Given the description of an element on the screen output the (x, y) to click on. 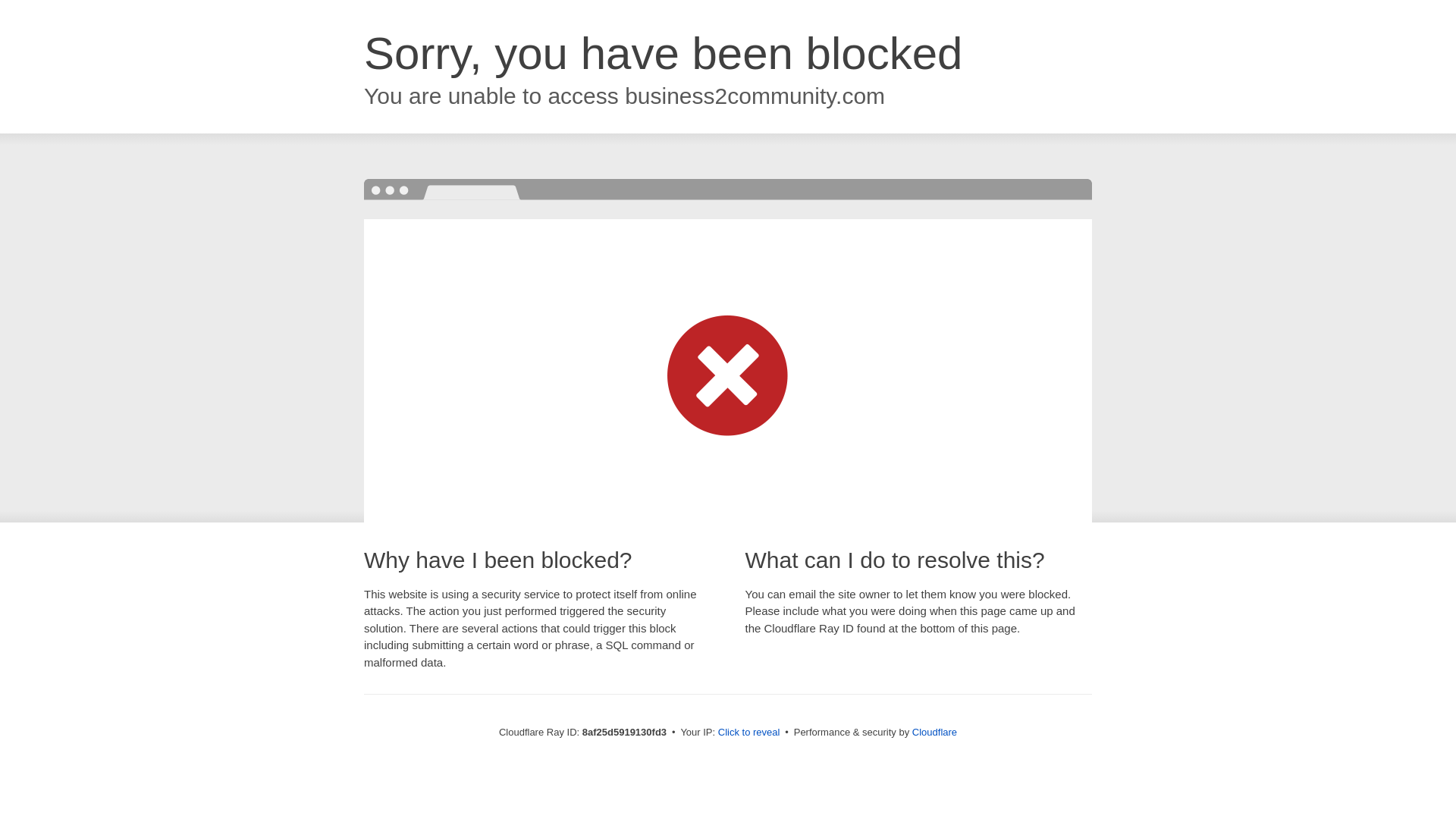
Click to reveal (748, 732)
Cloudflare (934, 731)
